Given the description of an element on the screen output the (x, y) to click on. 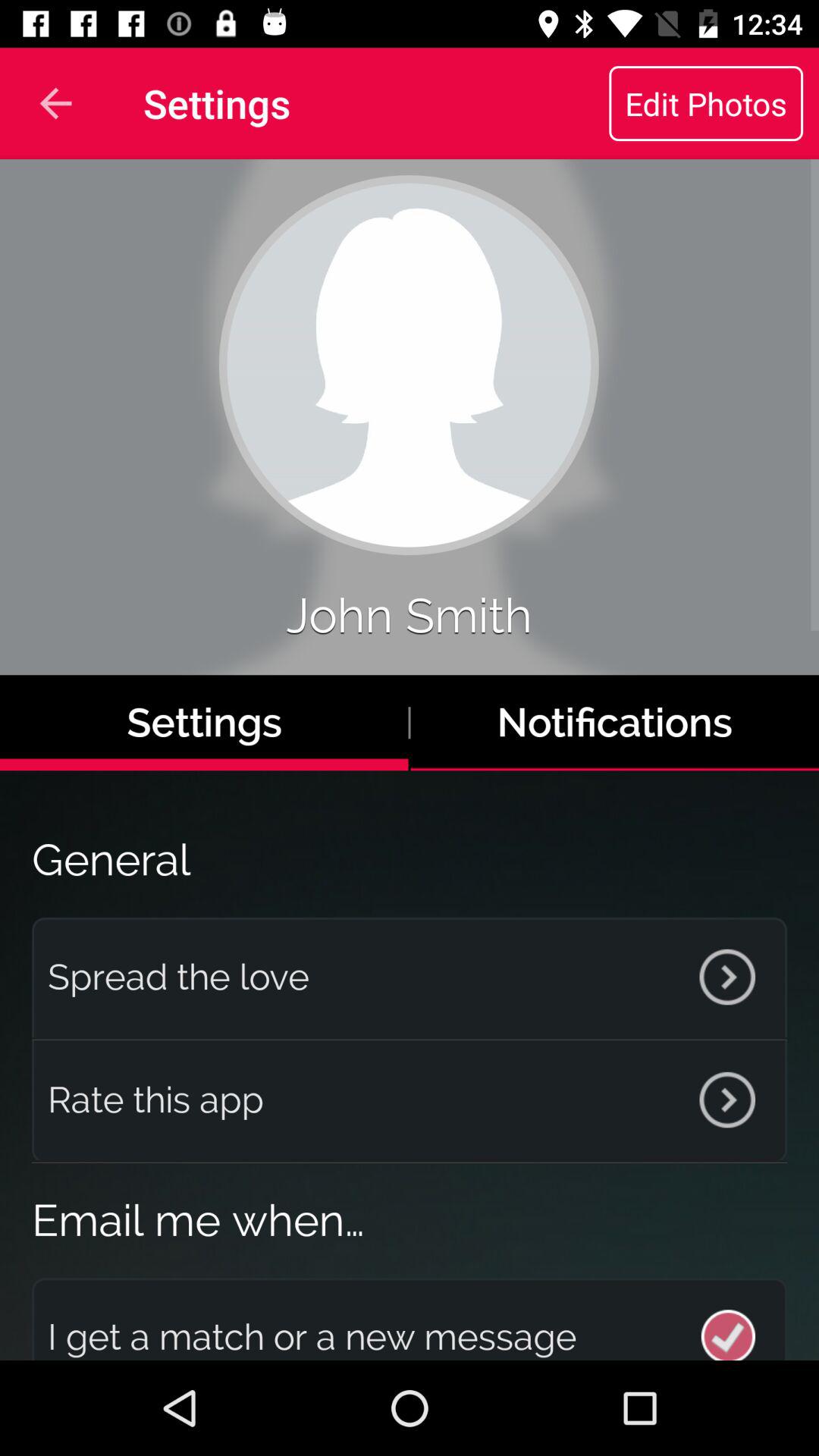
go to notifications (615, 722)
